Given the description of an element on the screen output the (x, y) to click on. 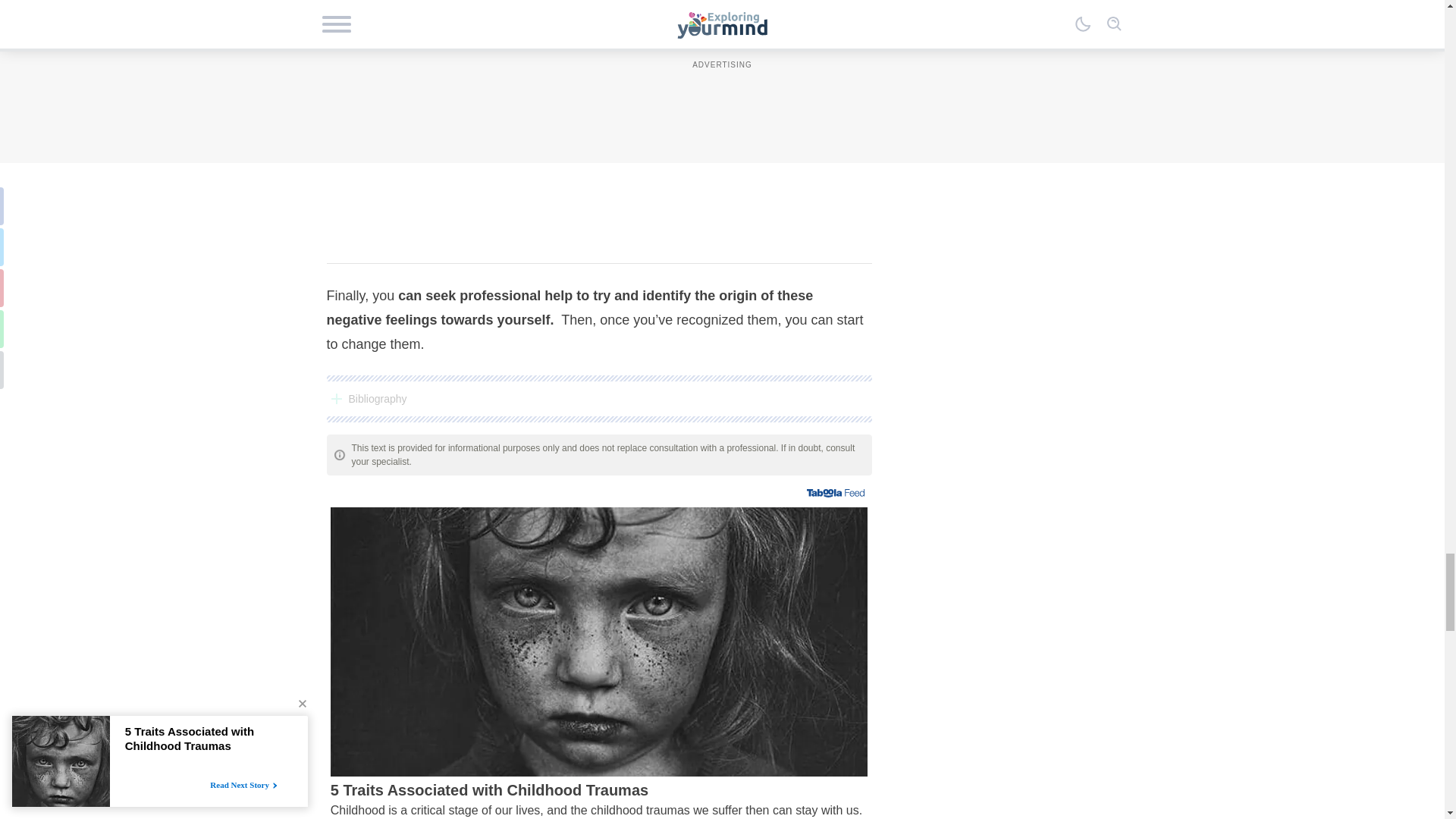
Bibliography (598, 398)
5 Traits Associated with Childhood Traumas (598, 799)
